Given the description of an element on the screen output the (x, y) to click on. 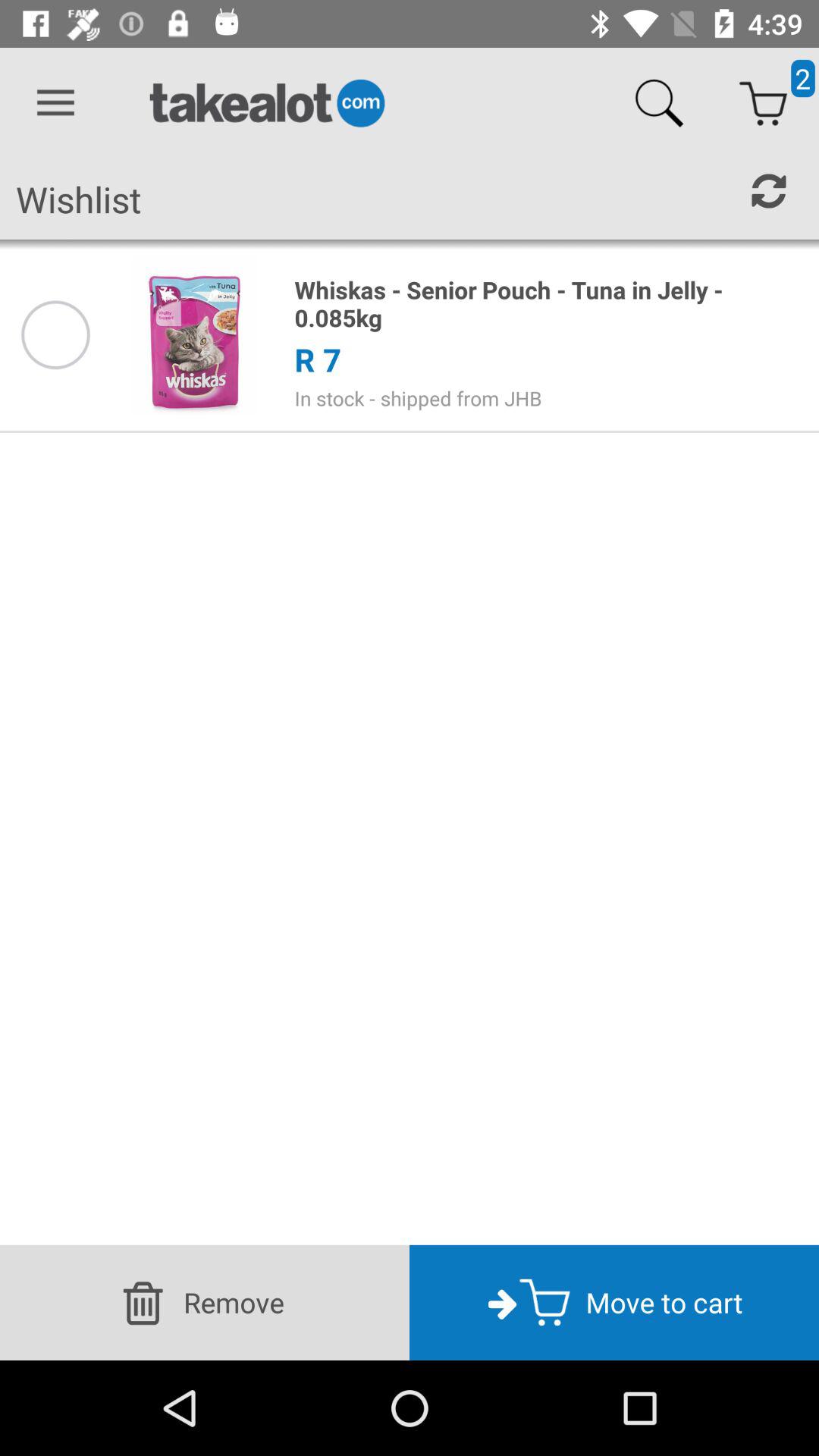
swipe until whiskas senior pouch icon (548, 303)
